Given the description of an element on the screen output the (x, y) to click on. 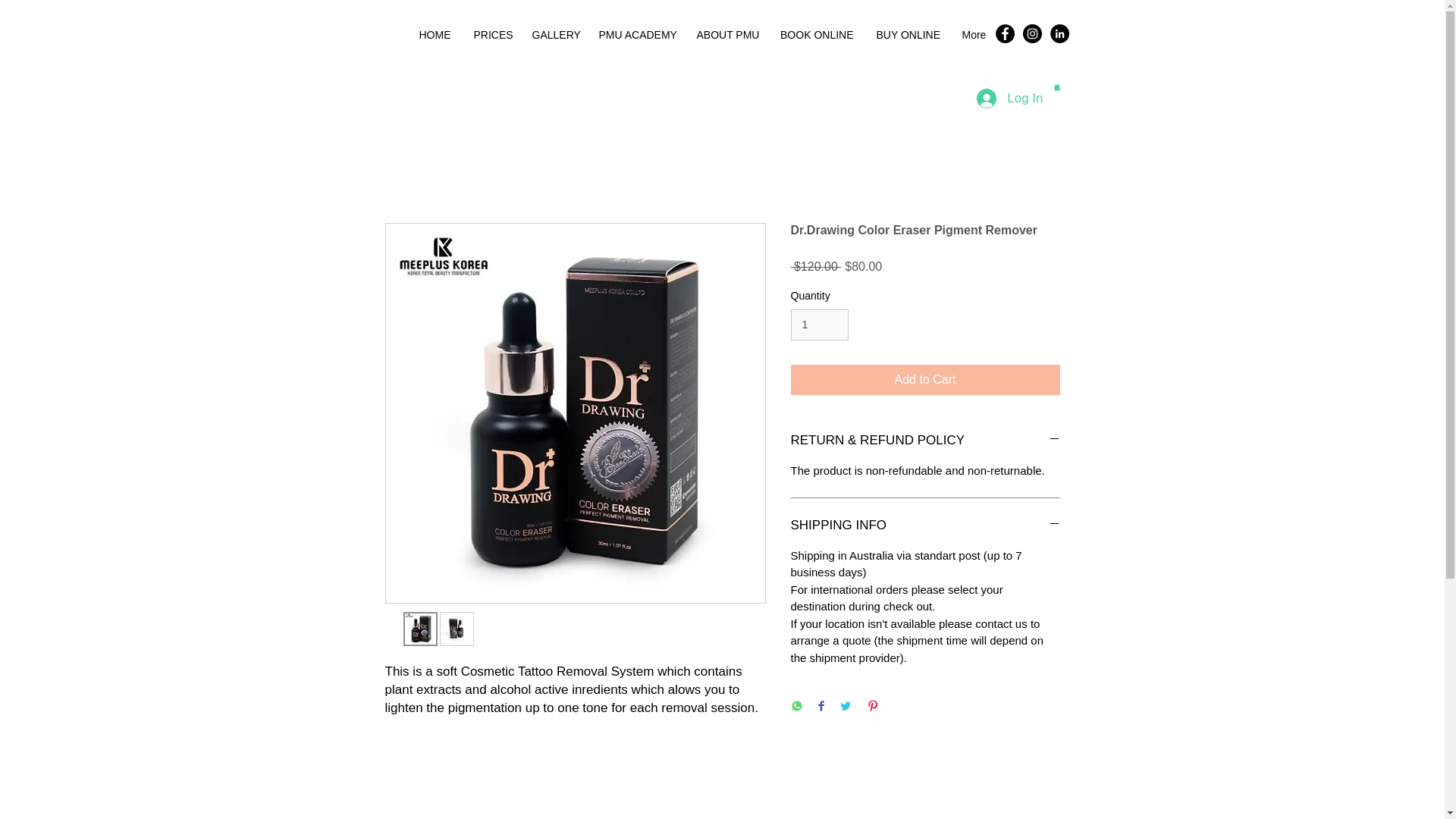
GALLERY (552, 34)
Log In (1009, 98)
Add to Cart (924, 379)
BOOK ONLINE (816, 34)
PRICES (492, 34)
ABOUT PMU (726, 34)
1 (818, 324)
HOME (433, 34)
SHIPPING INFO (924, 525)
PMU ACADEMY (635, 34)
